Given the description of an element on the screen output the (x, y) to click on. 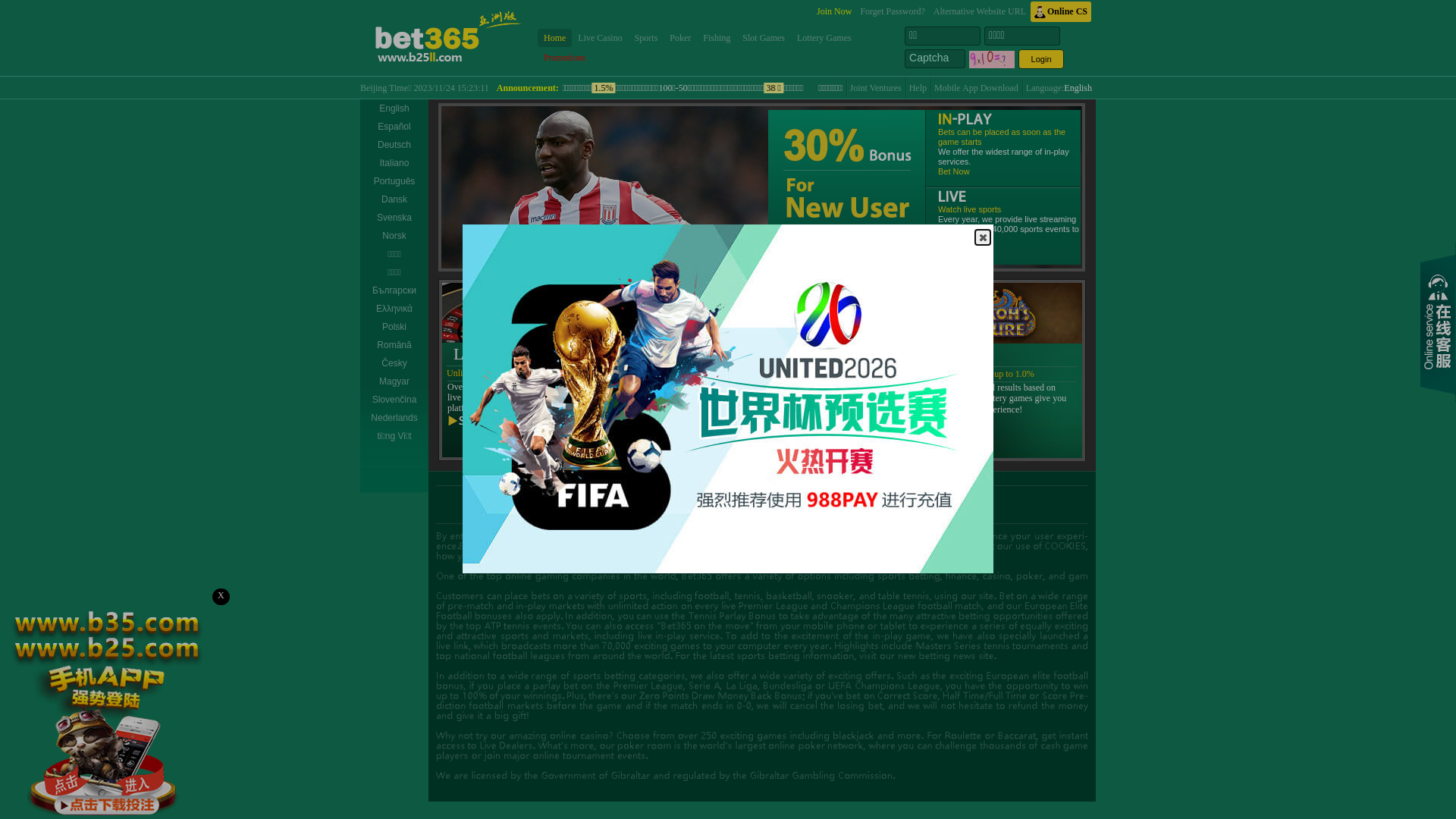
Live Casino Element type: text (599, 37)
Online CS Element type: text (1060, 11)
Norsk Element type: text (394, 235)
English Element type: text (1077, 87)
Help Element type: text (917, 87)
Fishing Element type: text (716, 37)
Svenska Element type: text (394, 217)
Alternative Website URL Element type: text (979, 11)
Agent Partnership Element type: text (763, 497)
Agent Alliance Element type: text (907, 497)
Magyar Element type: text (394, 381)
English Element type: text (394, 108)
Forget Password? Element type: text (891, 11)
Mobile App Download Element type: text (976, 87)
About Us Element type: text (606, 497)
Promotions Element type: text (564, 57)
Nederlands Element type: text (394, 417)
Instructions Element type: text (659, 497)
Polski Element type: text (394, 326)
Login Element type: text (1040, 59)
Italiano Element type: text (394, 162)
Poker Element type: text (679, 37)
FAQs Element type: text (705, 497)
Close Element type: hover (982, 236)
Home Element type: text (554, 37)
Deutsch Element type: text (394, 144)
Dansk Element type: text (394, 199)
Joint Ventures Element type: text (875, 87)
Sports Element type: text (646, 37)
Lottery Games Element type: text (823, 37)
Agent Program Element type: text (838, 497)
Slot Games Element type: text (763, 37)
Join Now Element type: text (833, 11)
